Given the description of an element on the screen output the (x, y) to click on. 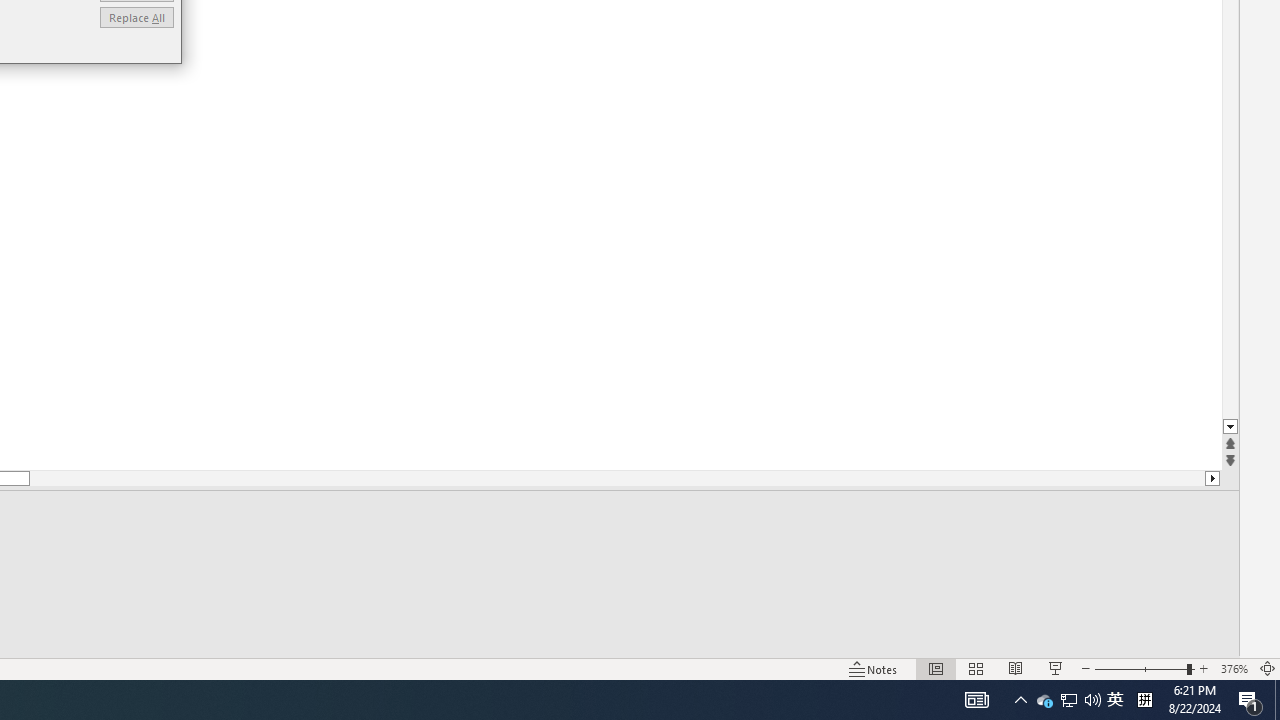
Notification Chevron (1020, 699)
